Given the description of an element on the screen output the (x, y) to click on. 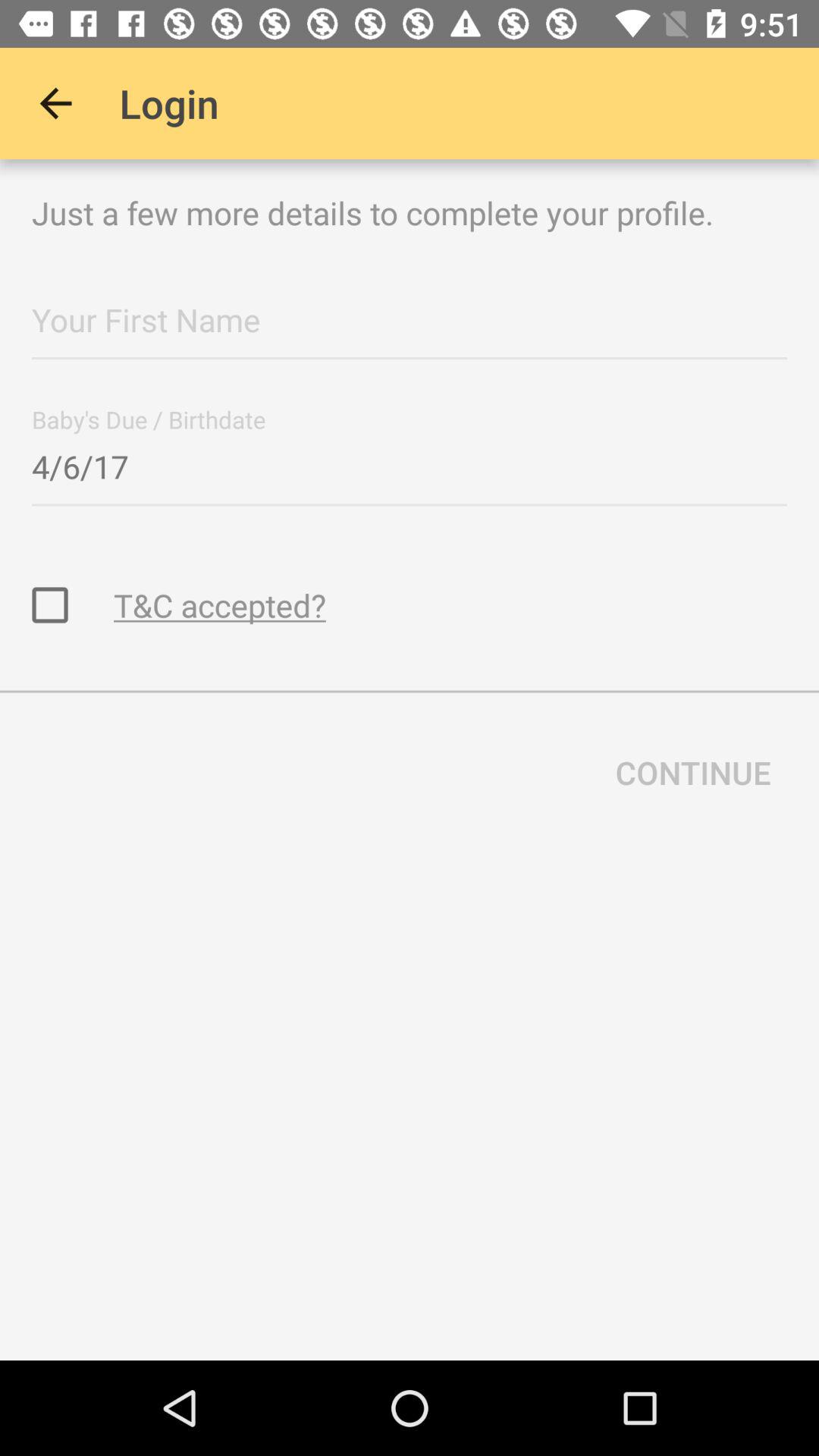
press item to the left of login icon (55, 103)
